Given the description of an element on the screen output the (x, y) to click on. 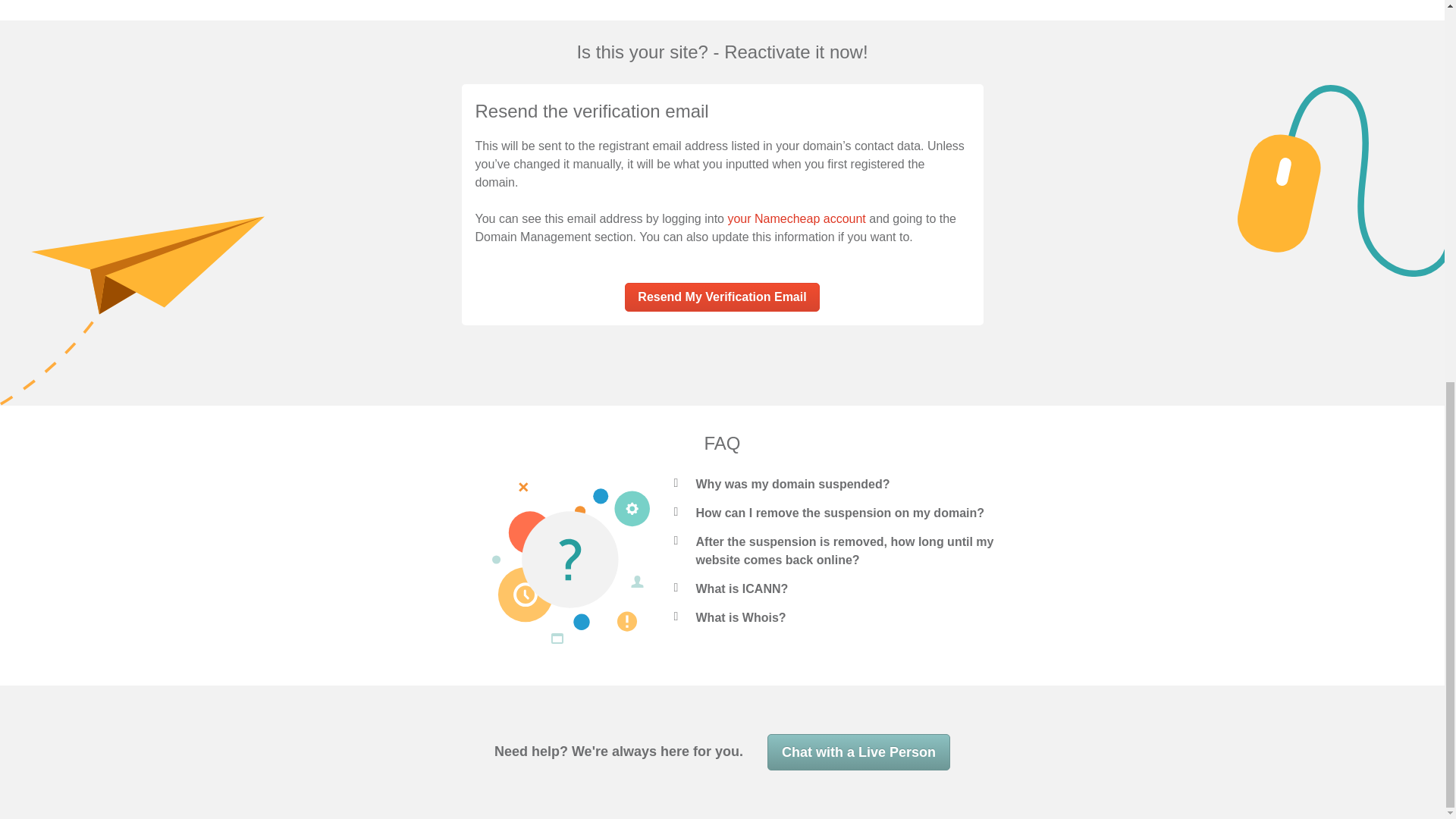
Resend My Verification Email (721, 297)
your Namecheap account (795, 218)
Chat with a Live Person (858, 751)
